Given the description of an element on the screen output the (x, y) to click on. 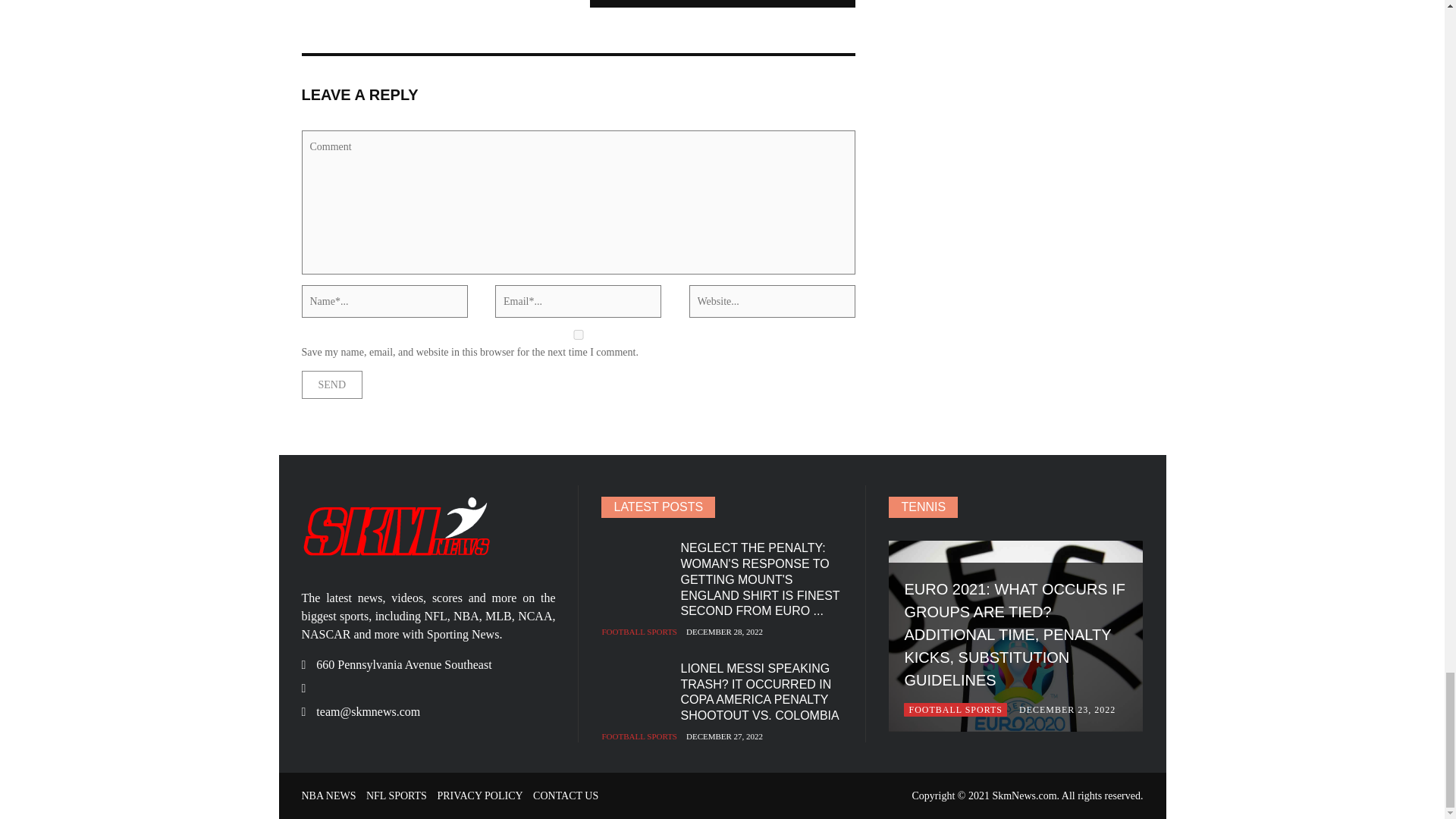
yes (578, 334)
Send (331, 384)
